Given the description of an element on the screen output the (x, y) to click on. 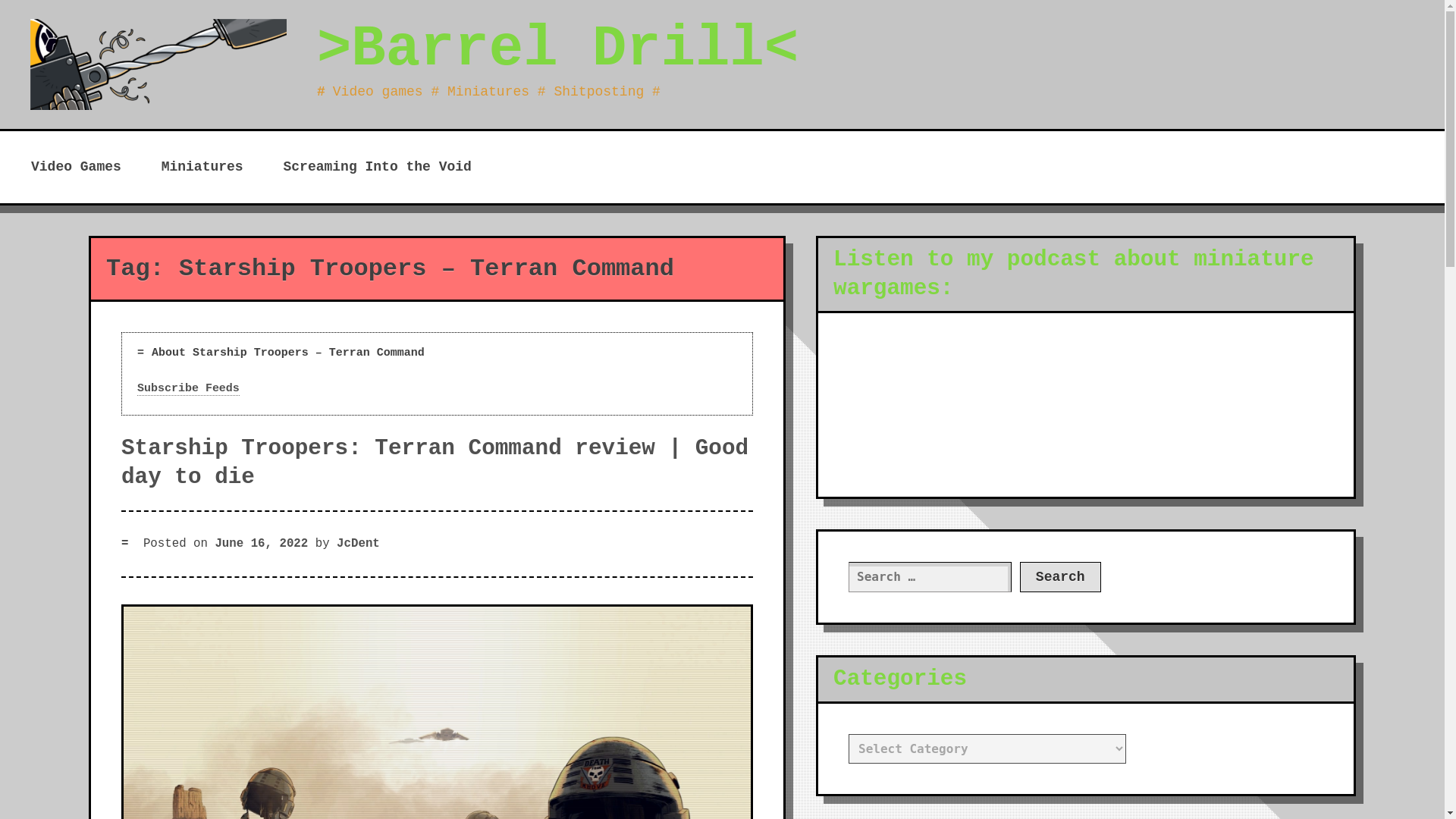
Video Games (75, 167)
Search (1060, 576)
Search (1060, 576)
Screaming Into the Void (376, 167)
Subscribe Feeds (188, 388)
JcDent (358, 543)
Search (1060, 576)
Miniatures (202, 167)
June 16, 2022 (260, 543)
